Given the description of an element on the screen output the (x, y) to click on. 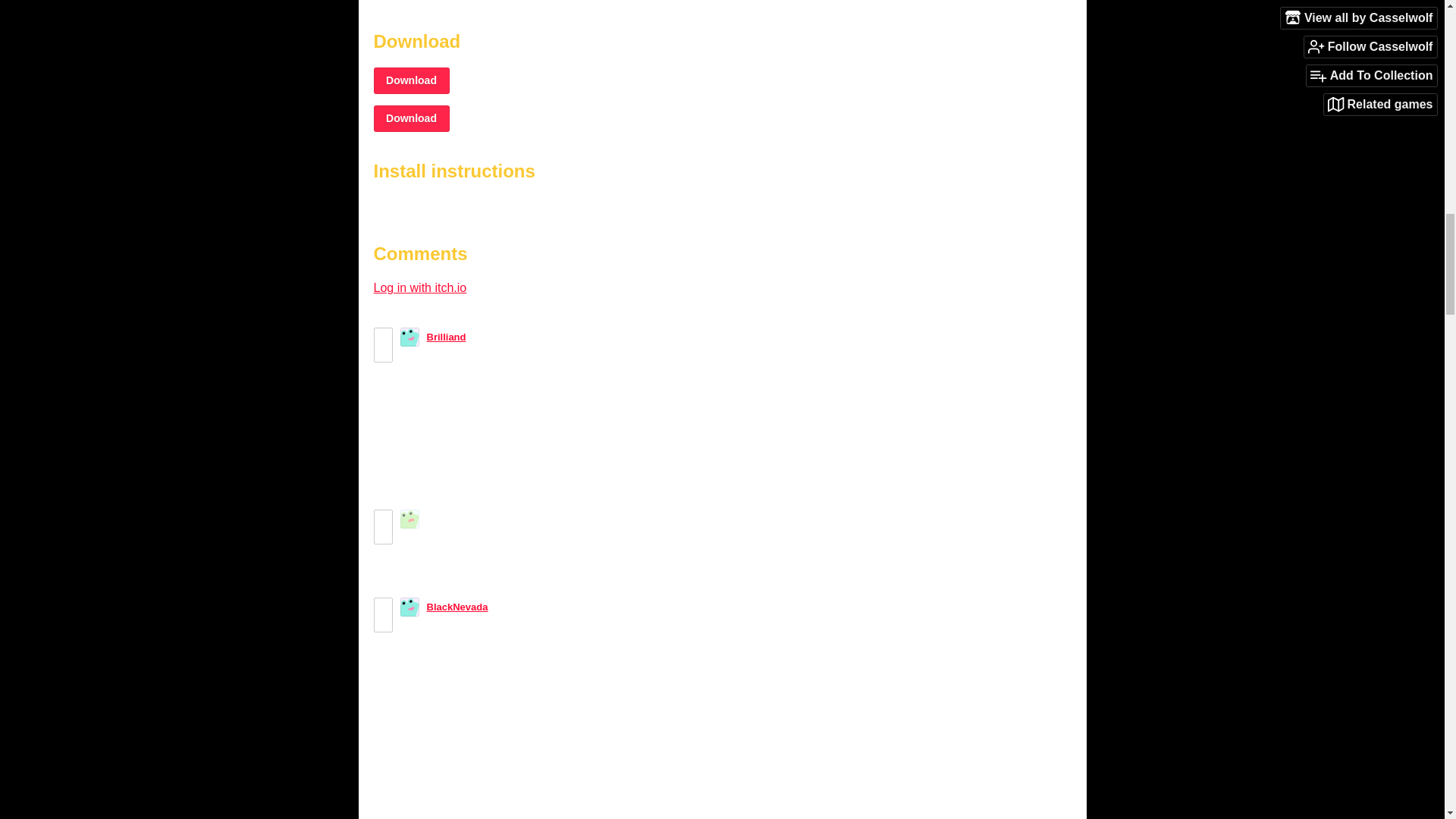
2024-02-26 04:56:39 (524, 606)
Download (410, 118)
Download (410, 80)
Brilliand (445, 337)
2024-03-03 13:11:44 (556, 518)
More information (424, 0)
Log in with itch.io (418, 287)
Vote down (382, 352)
Reply (412, 480)
Vote up (382, 606)
Vote down (382, 623)
139 days ago (556, 518)
Vote up (382, 518)
Reply (412, 568)
Vote up (382, 336)
